Given the description of an element on the screen output the (x, y) to click on. 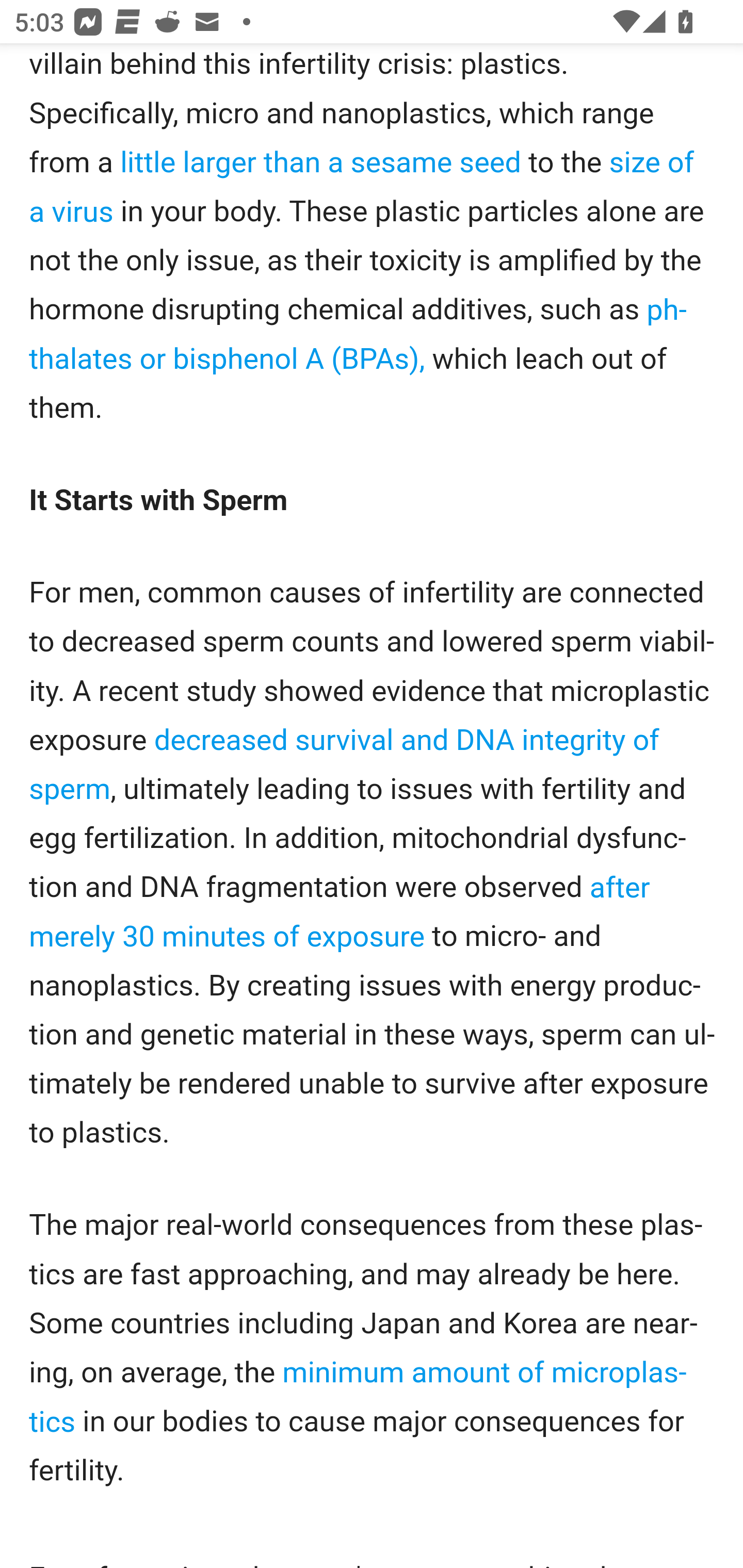
size of a virus (361, 188)
little larger than a sesame seed (319, 164)
phthalates or bisphenol A (BPAs),  (358, 335)
decreased survival and DNA integrity of sperm (344, 765)
after merely 30 minutes of exposure (339, 911)
minimum amount of microplastics (358, 1397)
